Given the description of an element on the screen output the (x, y) to click on. 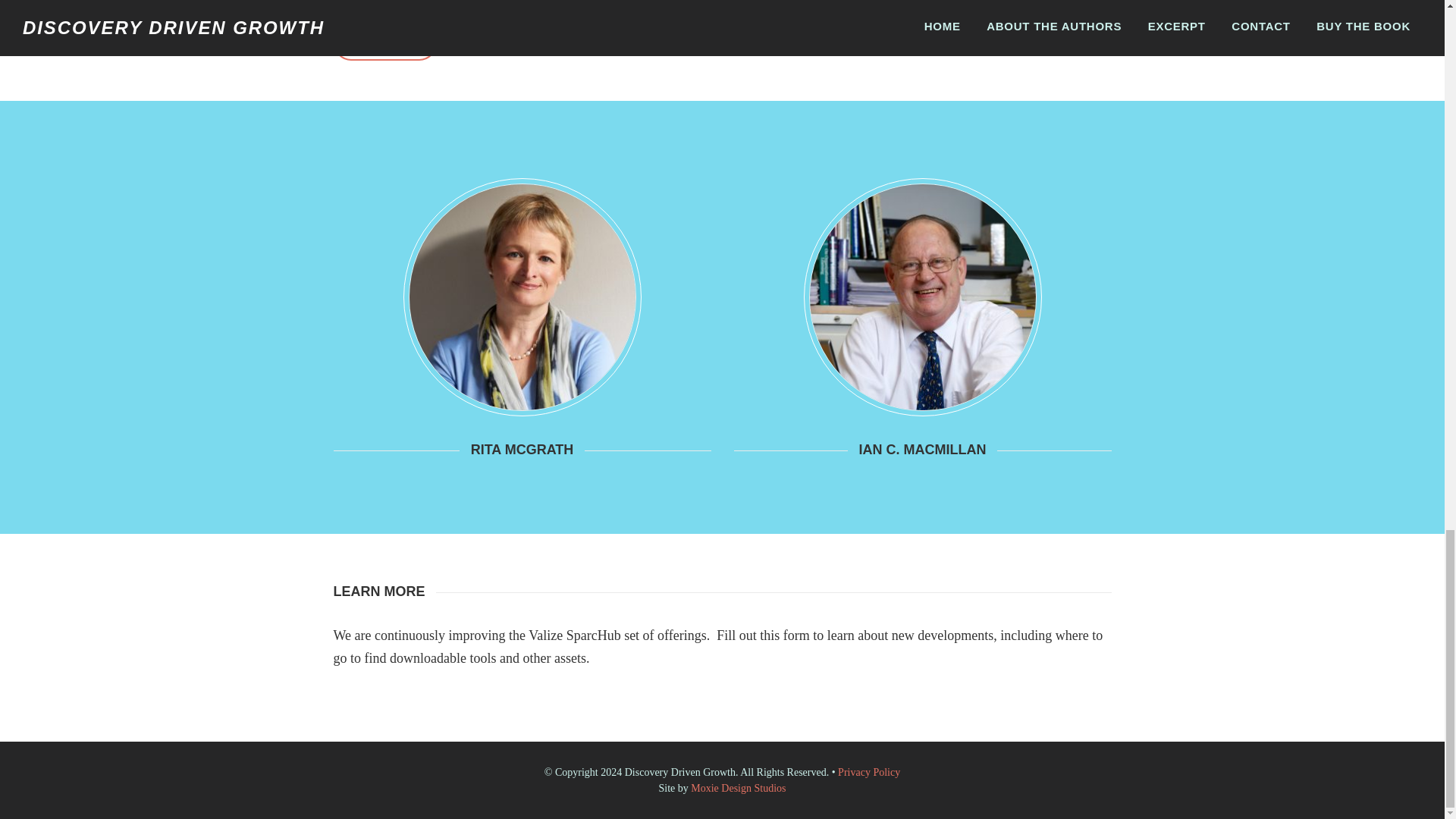
Rita Gunther McGrath (520, 297)
Author Website Design by Moxie Design Studios (738, 787)
LEARN MORE (384, 42)
Ian C. MacMillan (921, 297)
Privacy Policy (868, 772)
Moxie Design Studios (738, 787)
